Given the description of an element on the screen output the (x, y) to click on. 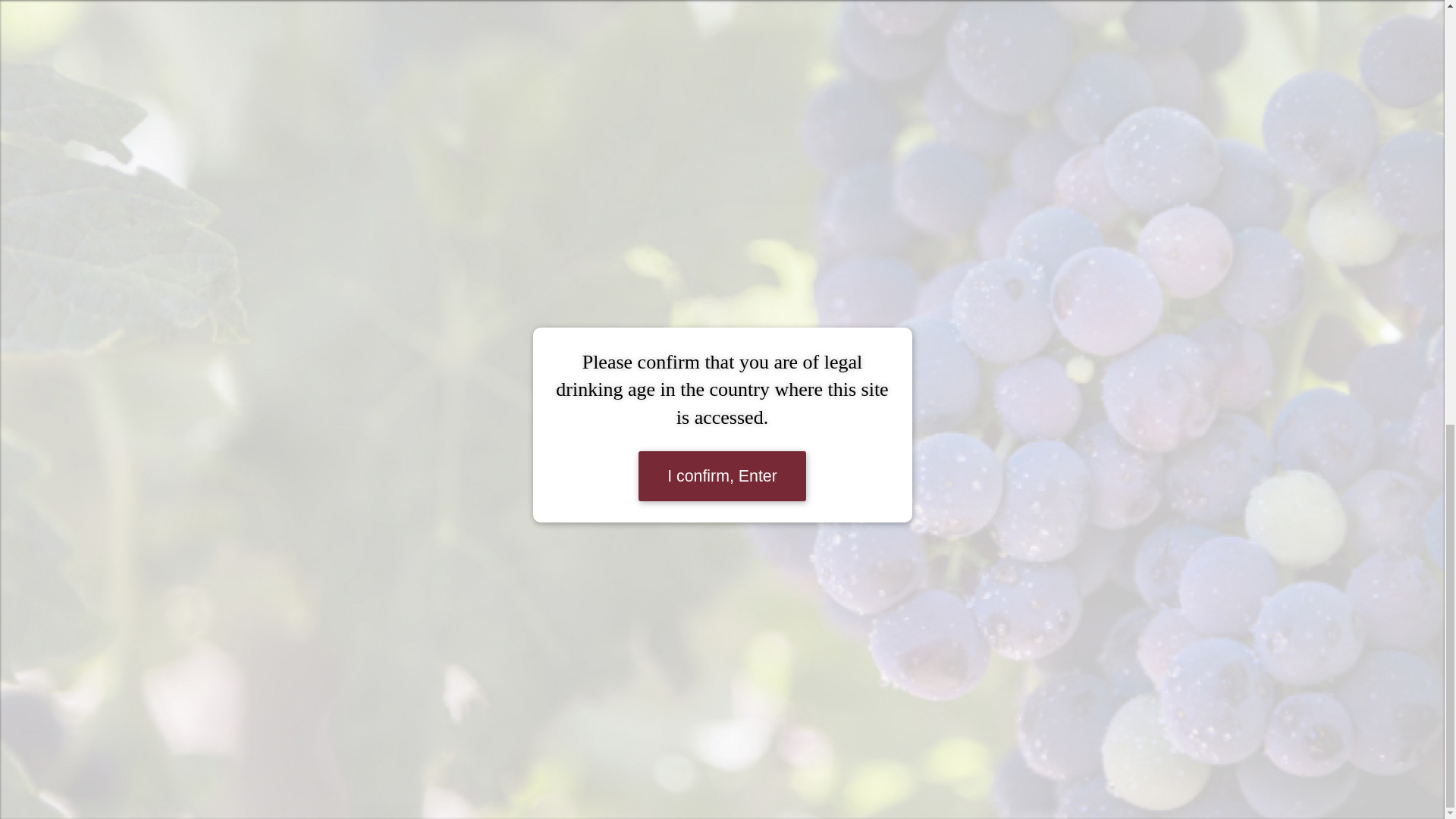
About us (614, 687)
Awards (614, 748)
Portfolio (614, 666)
Distributors (614, 728)
Contact us (614, 769)
Top grapes (614, 707)
Top grapes (614, 707)
Contact us (614, 769)
Awards (614, 748)
About us (614, 687)
